Given the description of an element on the screen output the (x, y) to click on. 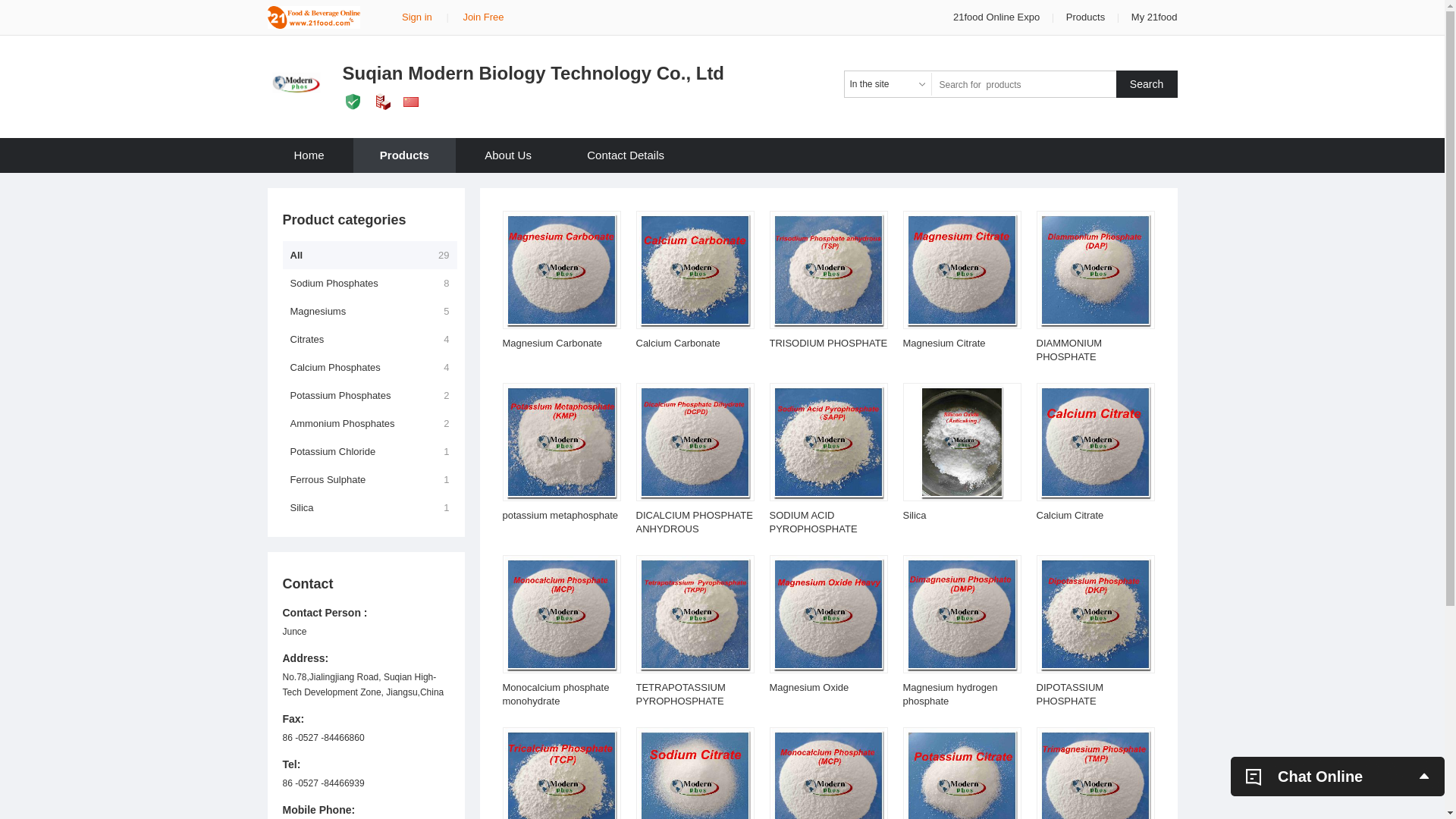
TETRAPOTASSIUM PYROPHOSPHATE Element type: text (679, 693)
Contact Details Element type: text (625, 155)
My 21food Element type: text (1154, 16)
Magnesium Carbonate Element type: text (552, 342)
Products Element type: text (404, 155)
About Us Element type: text (508, 155)
Sign in Element type: text (416, 16)
Magnesium Oxide Element type: text (808, 687)
Home Element type: text (308, 155)
Join Free Element type: text (482, 16)
Silica Element type: text (913, 514)
Search Element type: text (1146, 83)
Magnesium hydrogen phosphate Element type: text (949, 693)
potassium metaphosphate Element type: text (559, 514)
21food Online Expo Element type: text (997, 16)
TRISODIUM PHOSPHATE Element type: text (827, 342)
Magnesium Citrate Element type: text (943, 342)
DIAMMONIUM PHOSPHATE Element type: text (1068, 349)
Monocalcium phosphate monohydrate Element type: text (555, 693)
SODIUM ACID PYROPHOSPHATE Element type: text (812, 521)
Calcium Carbonate Element type: text (677, 342)
Products Element type: text (1085, 16)
DICALCIUM PHOSPHATE ANHYDROUS Element type: text (693, 521)
Calcium Citrate Element type: text (1069, 514)
DIPOTASSIUM PHOSPHATE ANHYDROUS Element type: text (1069, 700)
